Given the description of an element on the screen output the (x, y) to click on. 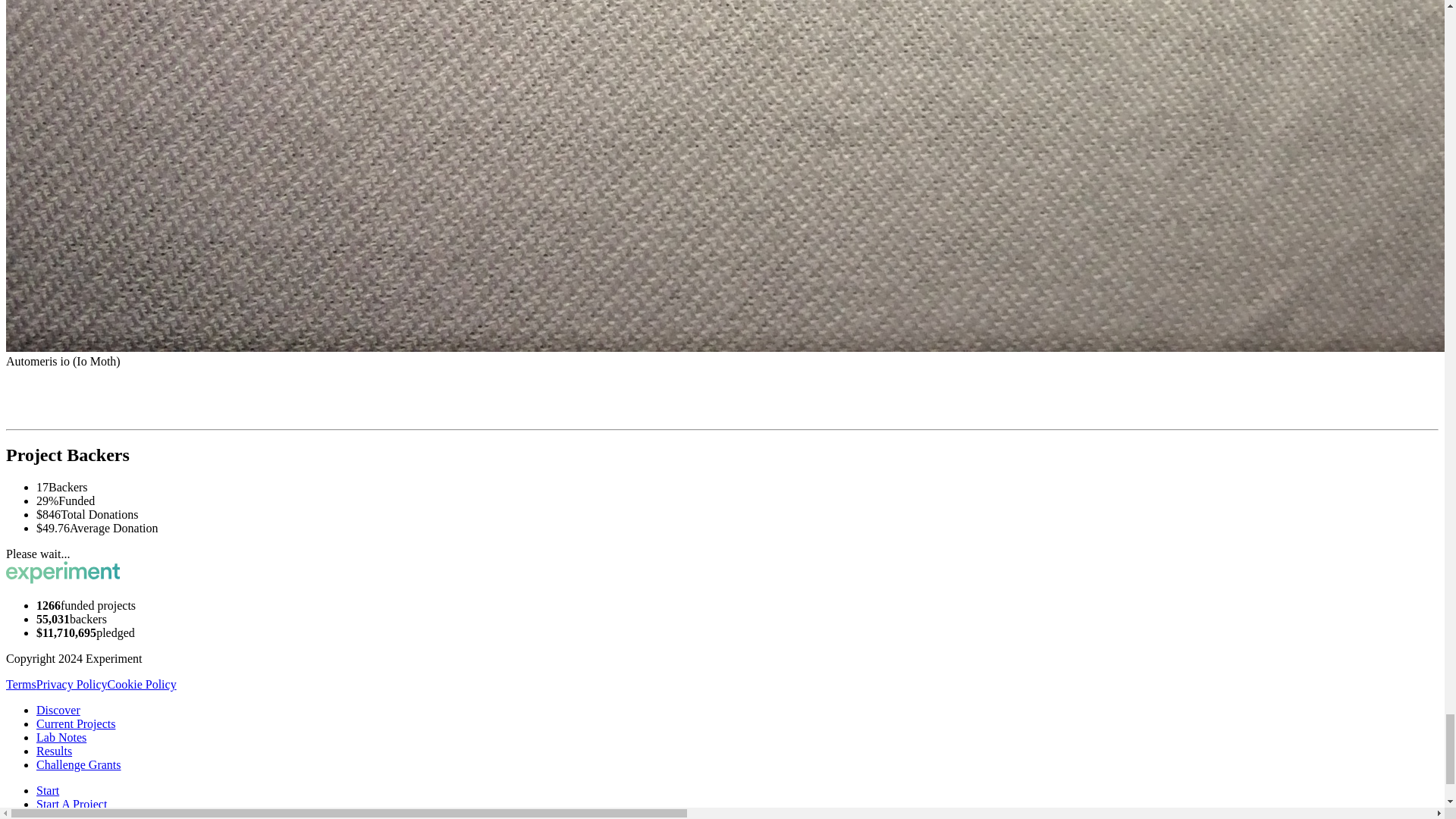
experiment 2 (62, 572)
